Given the description of an element on the screen output the (x, y) to click on. 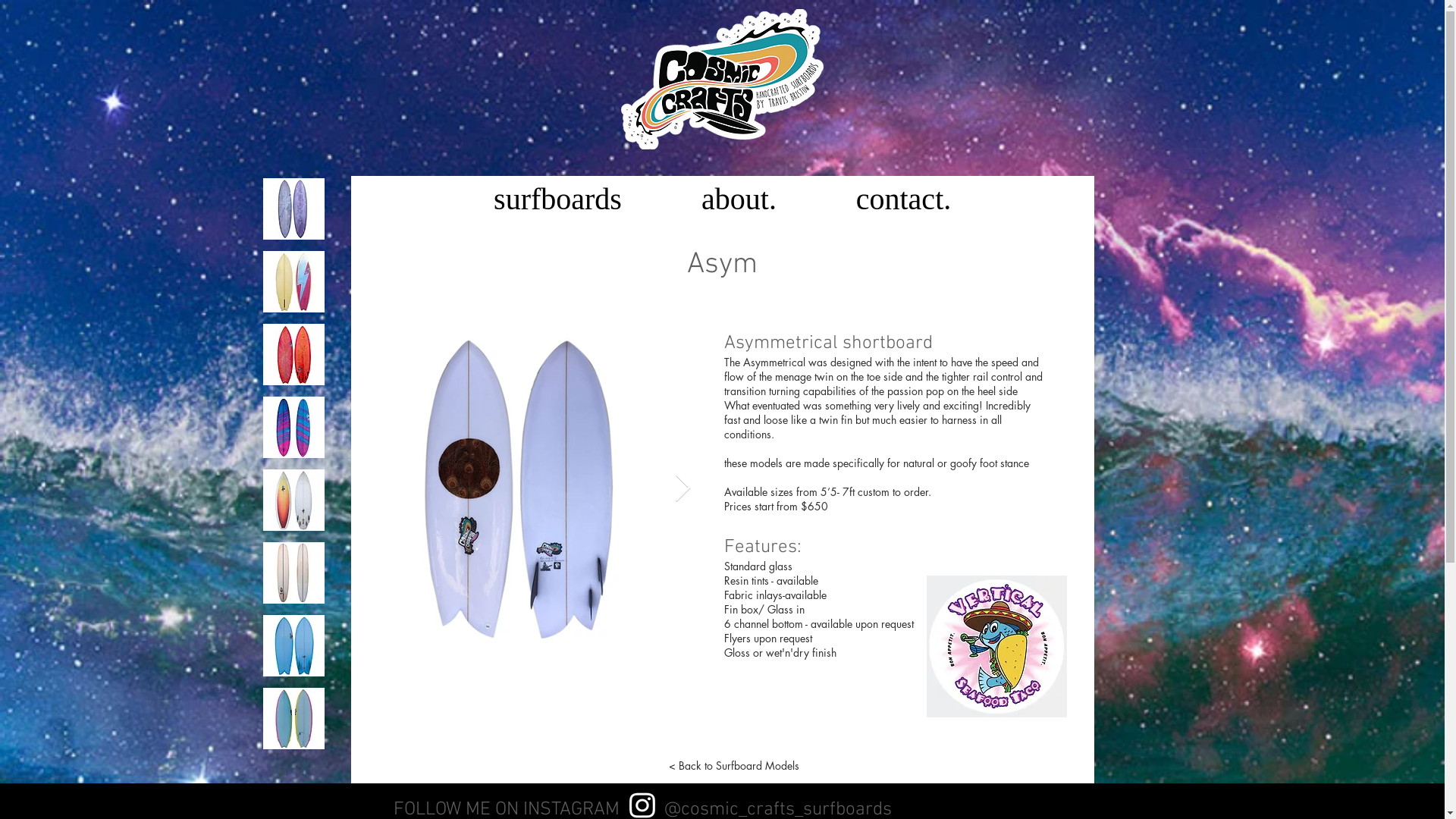
Asymmetrical shortboard Element type: text (827, 343)
contact. Element type: text (902, 197)
capabilities Element type: text (828, 390)
< Back to Surfboard Models Element type: text (733, 765)
surfboards Element type: text (557, 197)
about. Element type: text (738, 197)
